Given the description of an element on the screen output the (x, y) to click on. 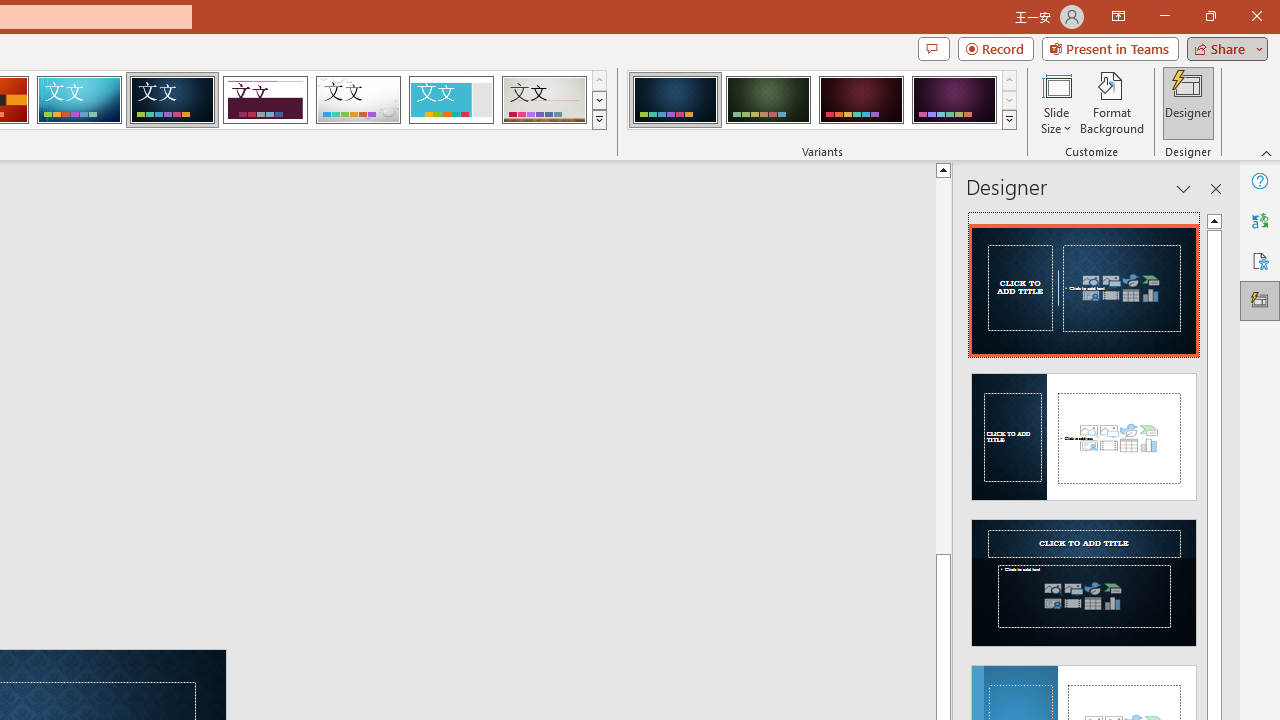
Themes (598, 120)
Damask Variant 2 (768, 100)
Damask (171, 100)
Damask Variant 4 (953, 100)
Frame (450, 100)
